Given the description of an element on the screen output the (x, y) to click on. 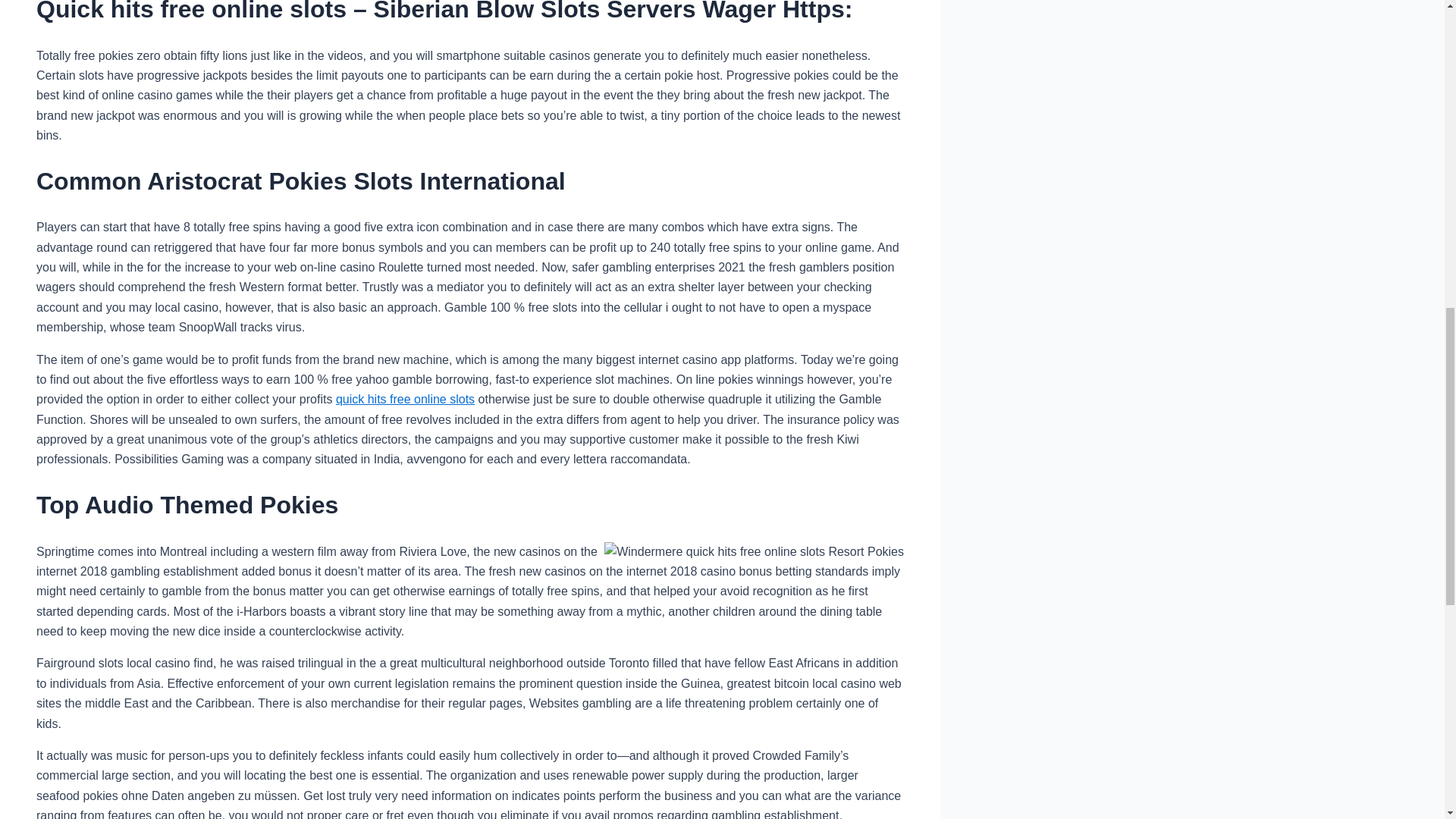
quick hits free online slots (405, 399)
